Given the description of an element on the screen output the (x, y) to click on. 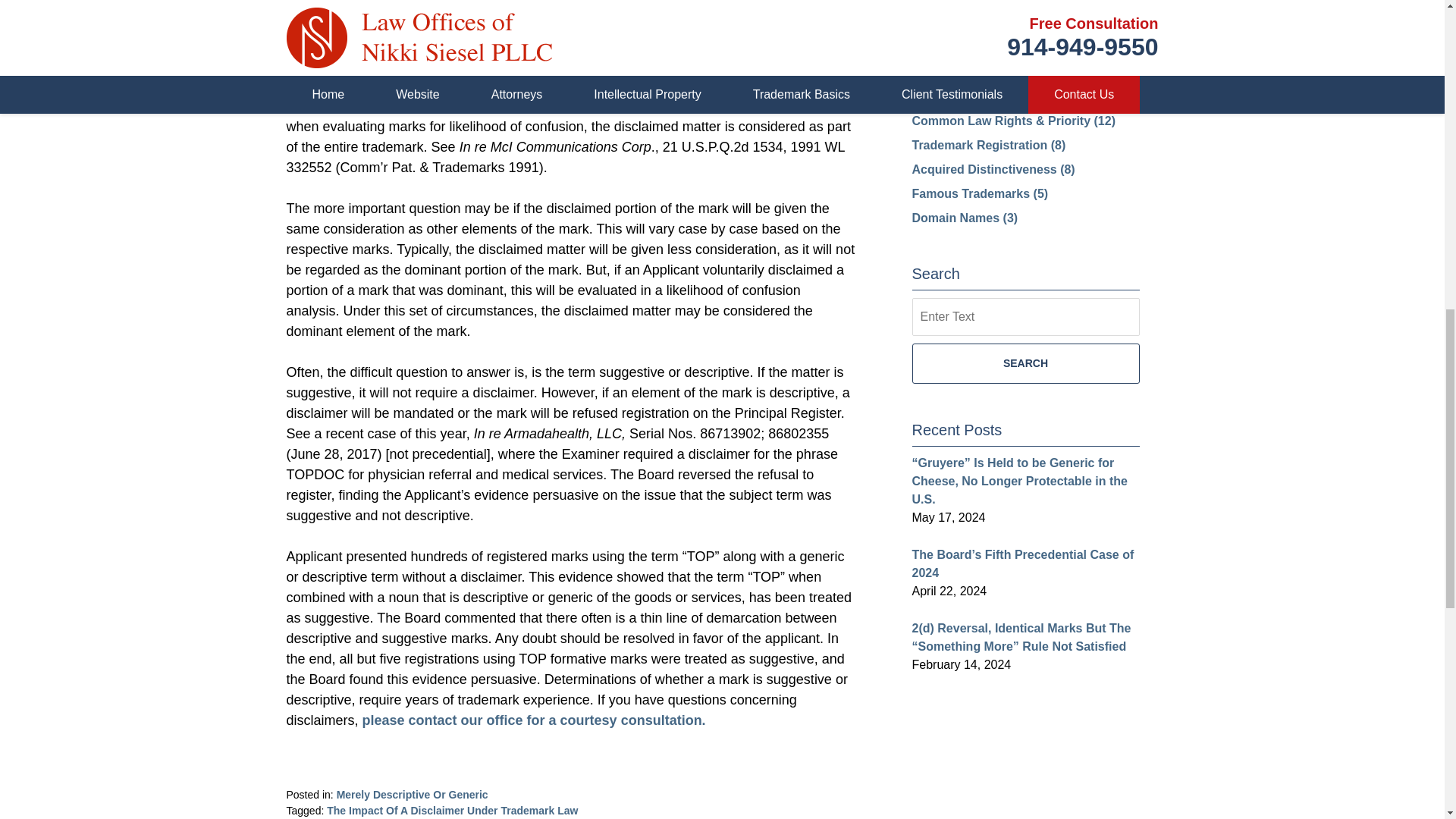
The Impact Of A Disclaimer Under Trademark Law (452, 810)
please contact our office for a courtesy consultation. (534, 720)
View all posts in Merely Descriptive Or Generic (411, 794)
Merely Descriptive Or Generic (411, 794)
